Given the description of an element on the screen output the (x, y) to click on. 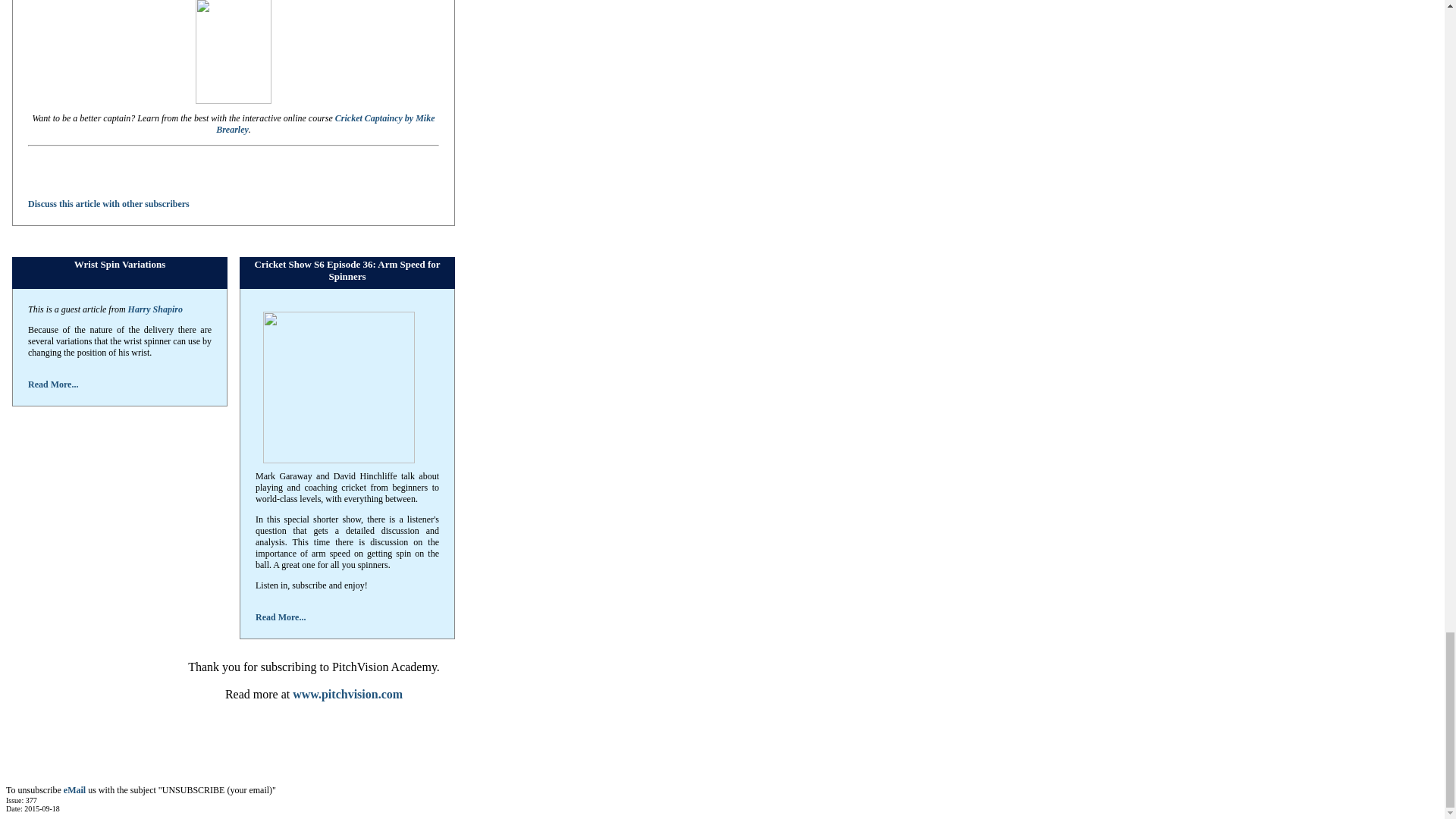
Harry Shapiro (155, 308)
Discuss this article with other subscribers (108, 204)
Read More... (280, 616)
www.pitchvision.com (347, 694)
eMail (74, 789)
Cricket Captaincy by Mike Brearley (324, 124)
Read More... (52, 384)
